Given the description of an element on the screen output the (x, y) to click on. 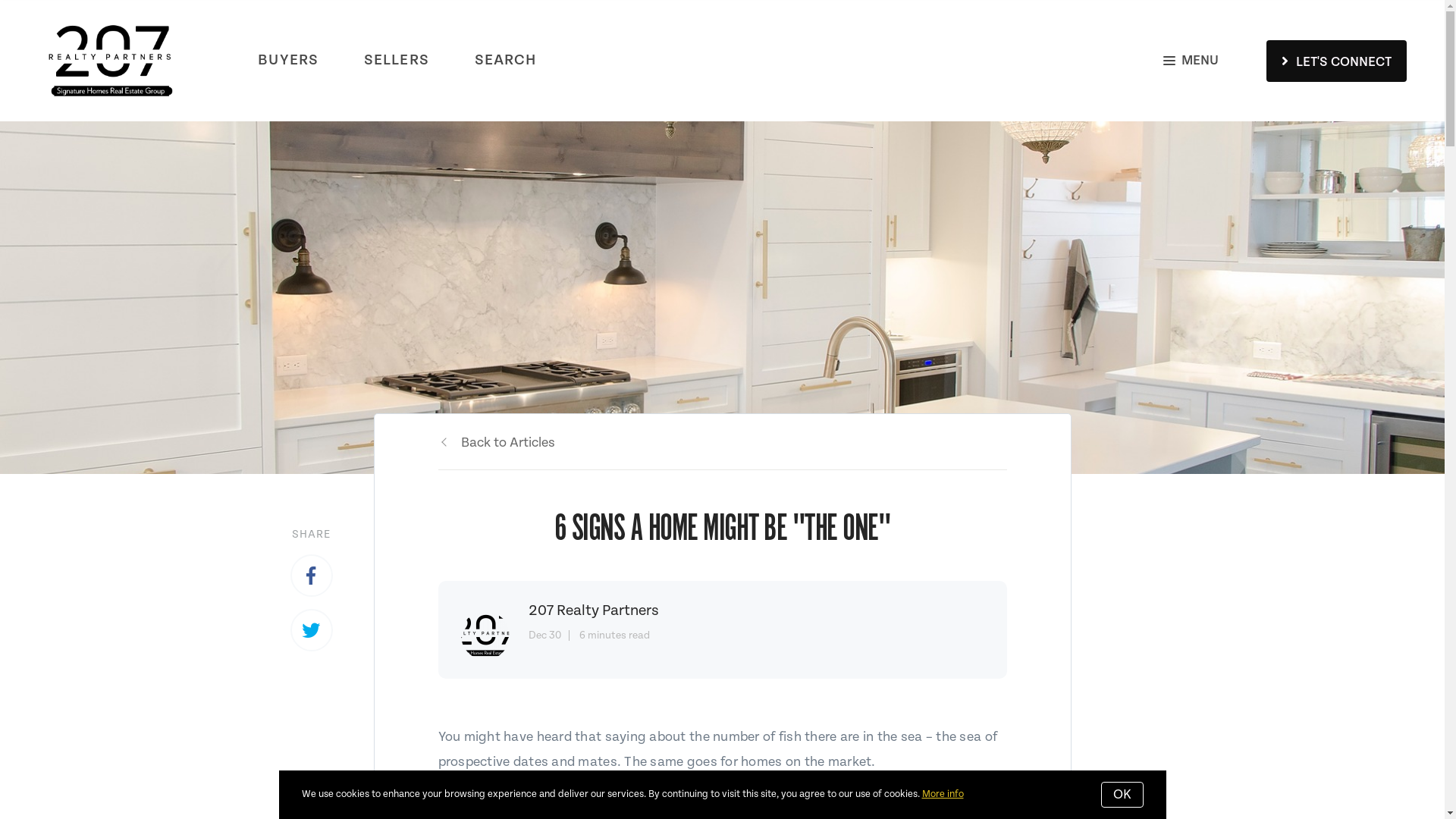
BUYERS Element type: text (287, 60)
SEARCH Element type: text (505, 60)
OK Element type: text (1122, 794)
More info Element type: text (942, 794)
LET'S CONNECT Element type: text (1336, 60)
MENU Element type: text (1190, 60)
SELLERS Element type: text (396, 60)
Back to Articles Element type: text (496, 442)
